Given the description of an element on the screen output the (x, y) to click on. 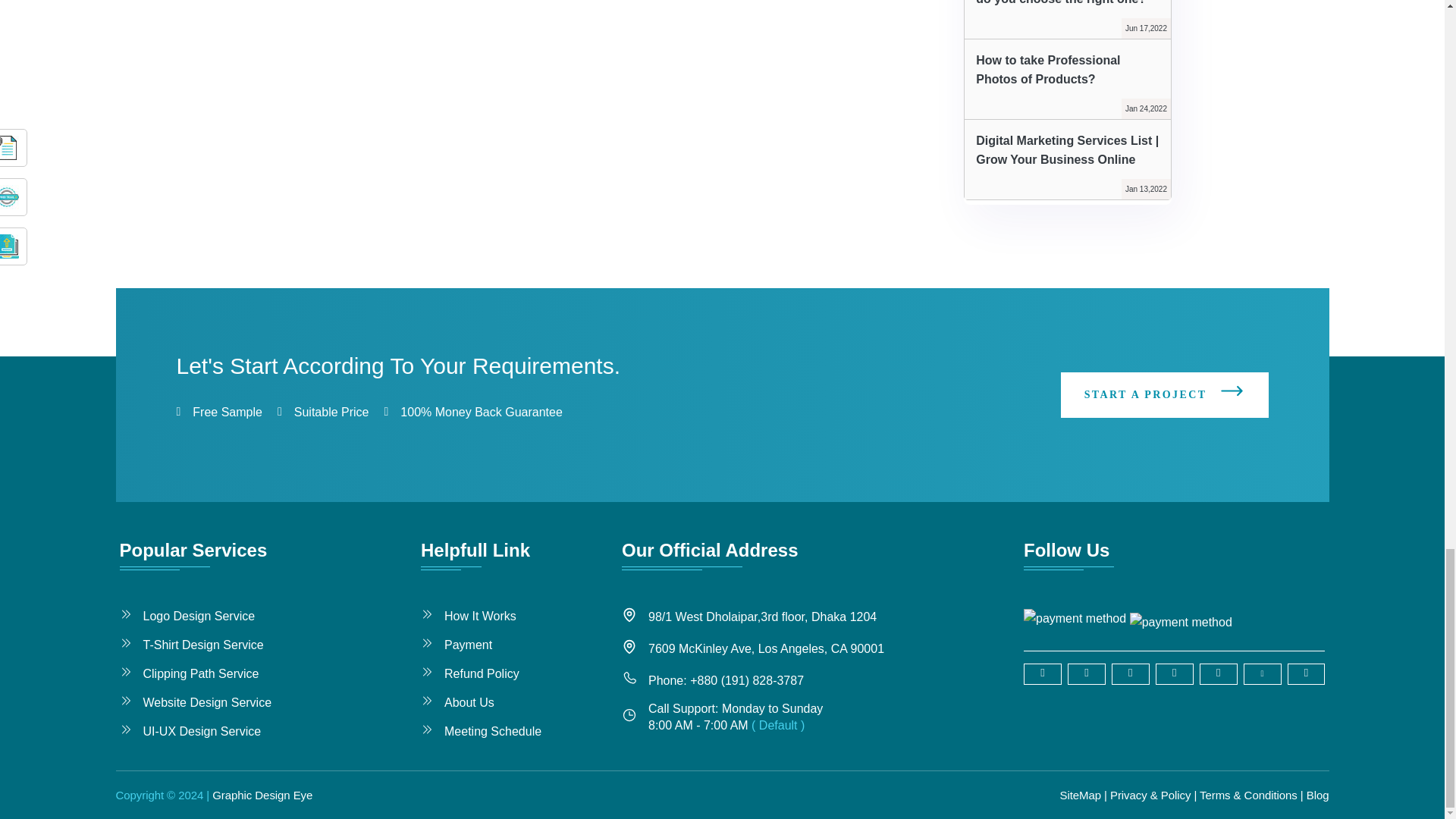
Payment method (1180, 618)
Payment method (1074, 618)
